Given the description of an element on the screen output the (x, y) to click on. 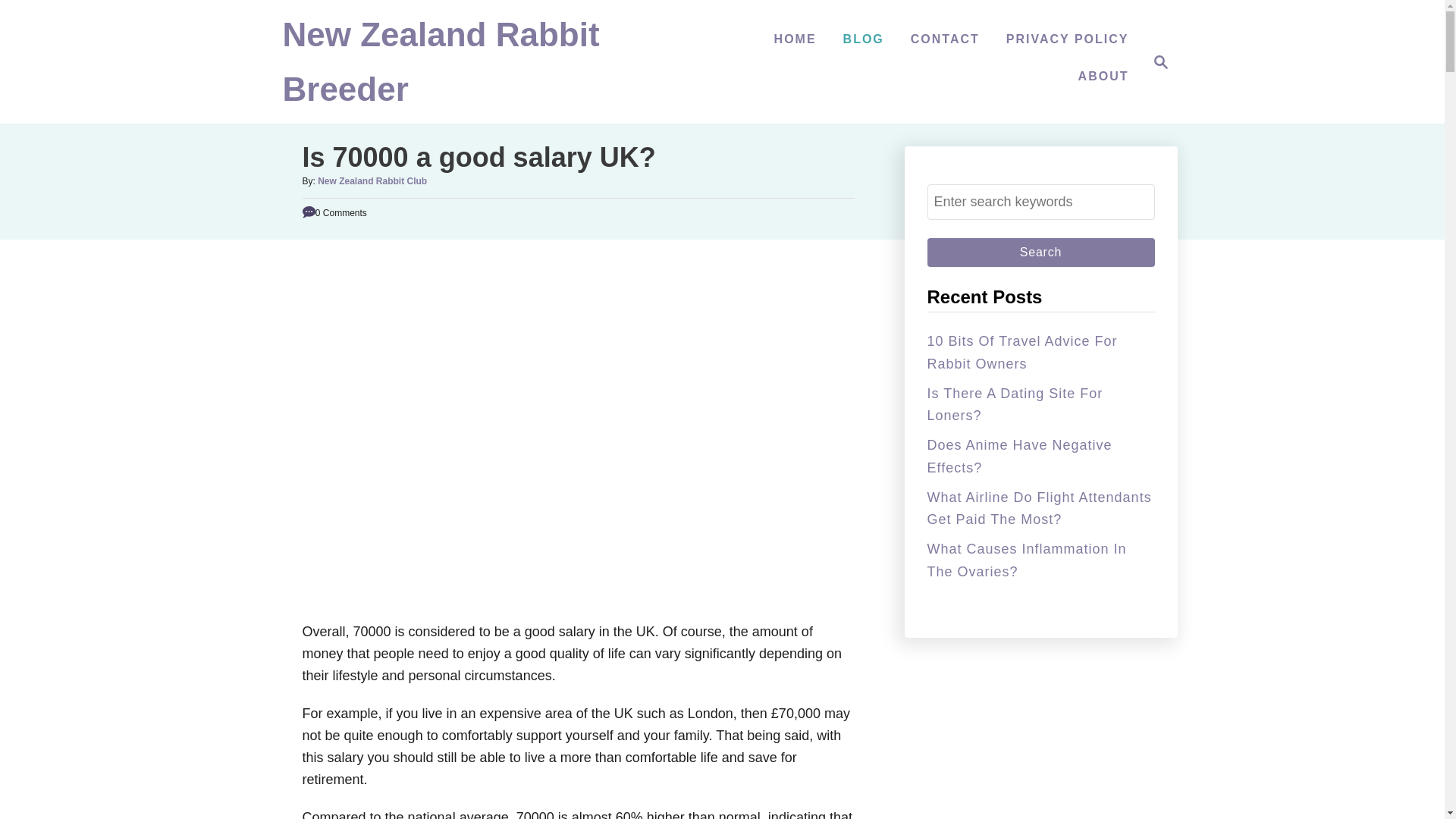
ABOUT (1103, 76)
BLOG (863, 39)
HOME (795, 39)
Search (1155, 61)
Search (1040, 252)
Does Anime Have Negative Effects? (1040, 252)
10 Bits Of Travel Advice For Rabbit Owners (1019, 456)
Search (1021, 352)
PRIVACY POLICY (1040, 252)
New Zealand Rabbit Breeder (1067, 39)
Magnifying Glass (440, 69)
Is There A Dating Site For Loners? (1160, 62)
New Zealand Rabbit Club (1014, 404)
New Zealand Rabbit Breeder (371, 181)
